Given the description of an element on the screen output the (x, y) to click on. 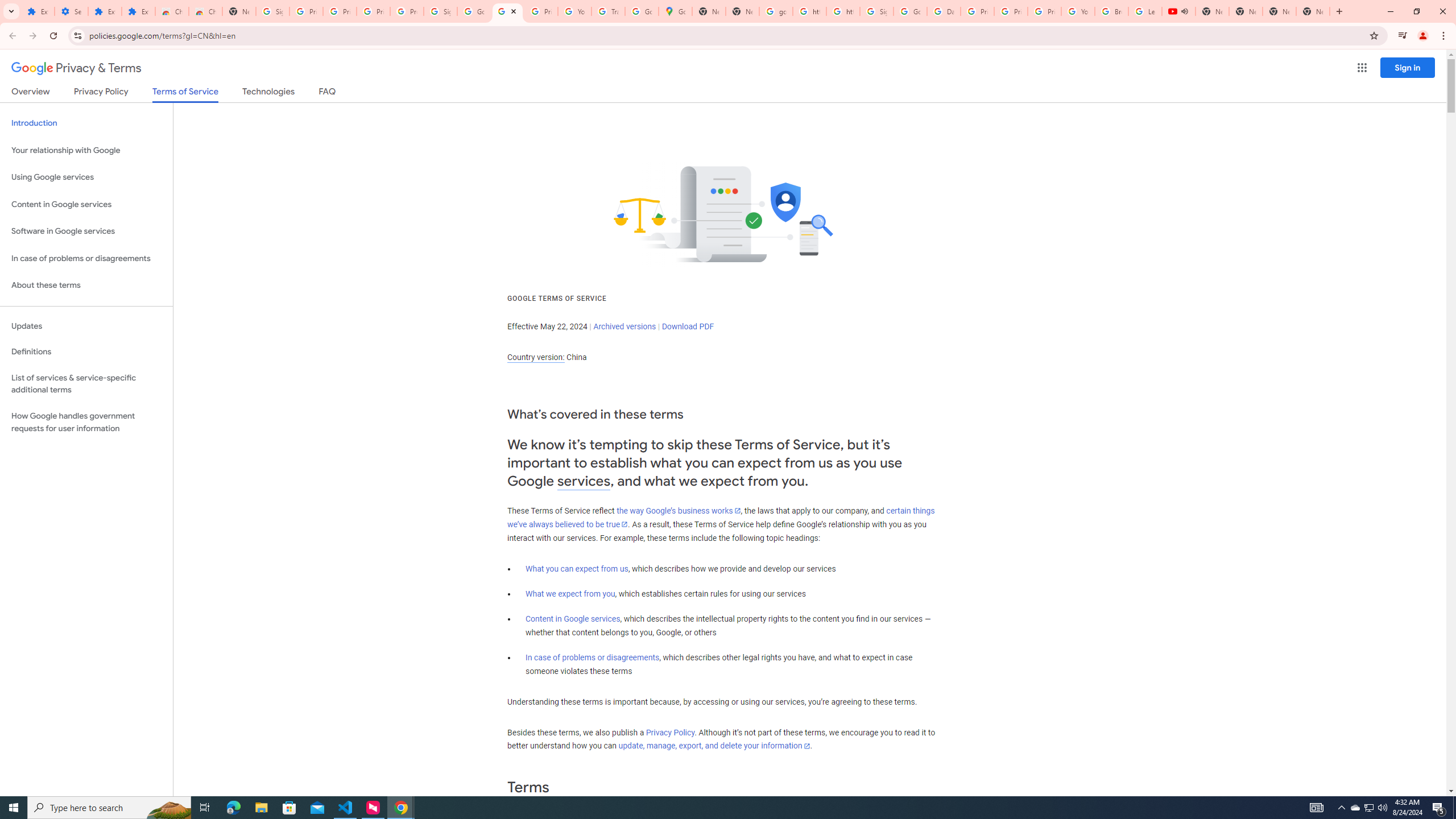
Software in Google services (86, 230)
Extensions (37, 11)
https://scholar.google.com/ (842, 11)
Using Google services (86, 176)
What you can expect from us (576, 568)
